Given the description of an element on the screen output the (x, y) to click on. 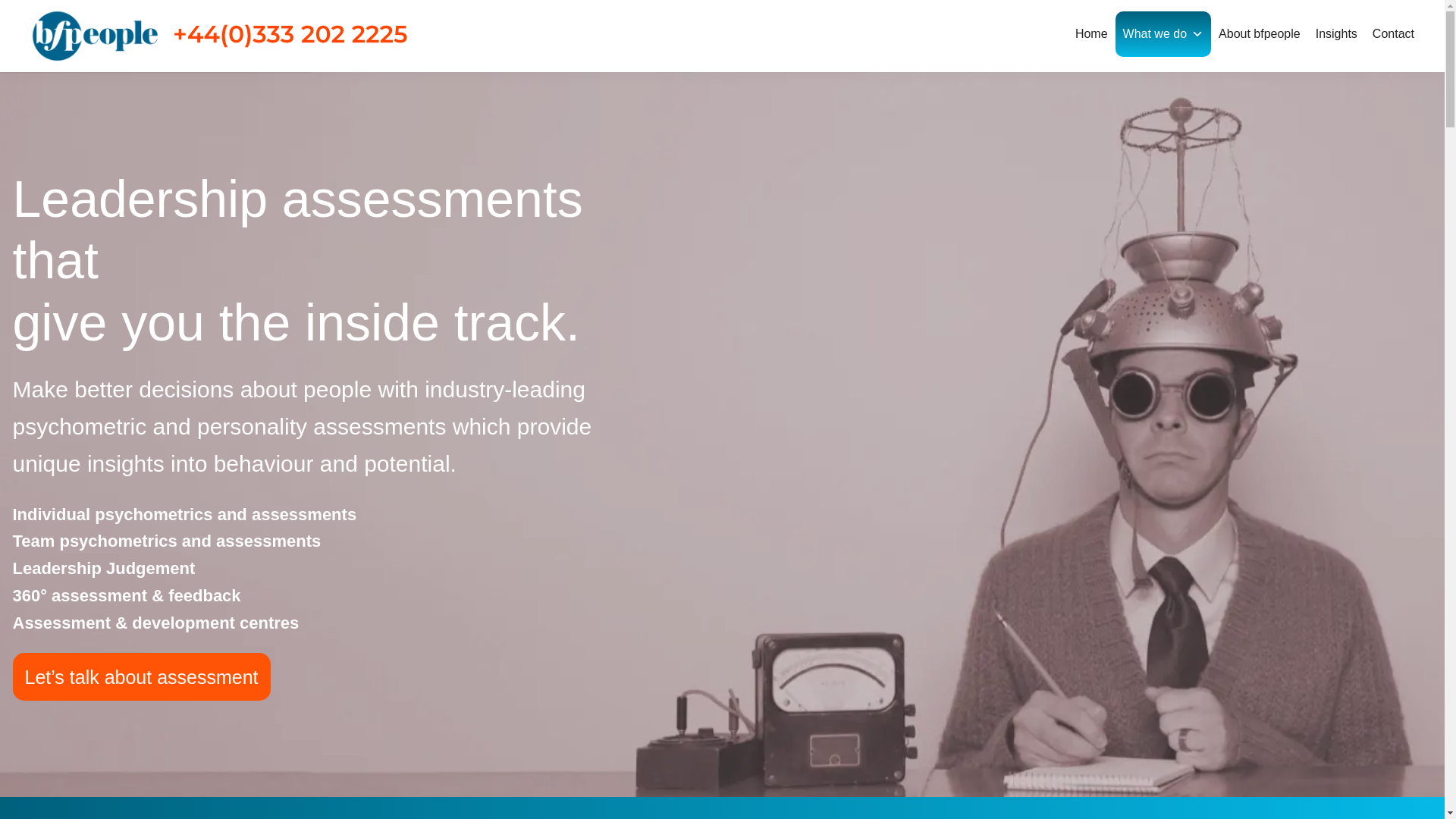
About bfpeople (1259, 33)
What we do (1163, 33)
Insights (1336, 33)
Home (1091, 33)
Contact (1393, 33)
